Given the description of an element on the screen output the (x, y) to click on. 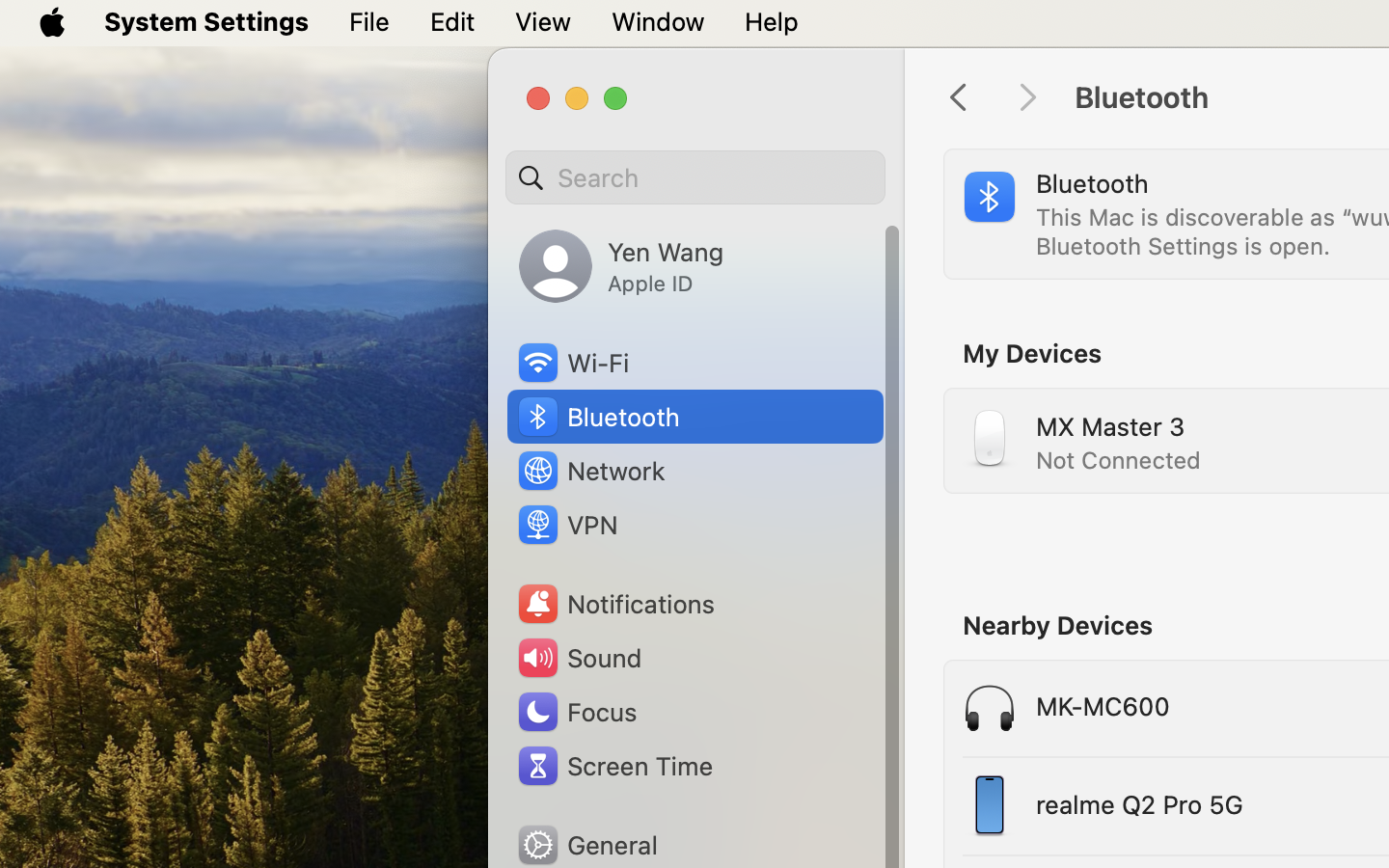
Not Connected Element type: AXStaticText (1118, 459)
General Element type: AXStaticText (586, 844)
MX Master 3 Element type: AXStaticText (1109, 425)
Focus Element type: AXStaticText (575, 711)
VPN Element type: AXStaticText (566, 524)
